Given the description of an element on the screen output the (x, y) to click on. 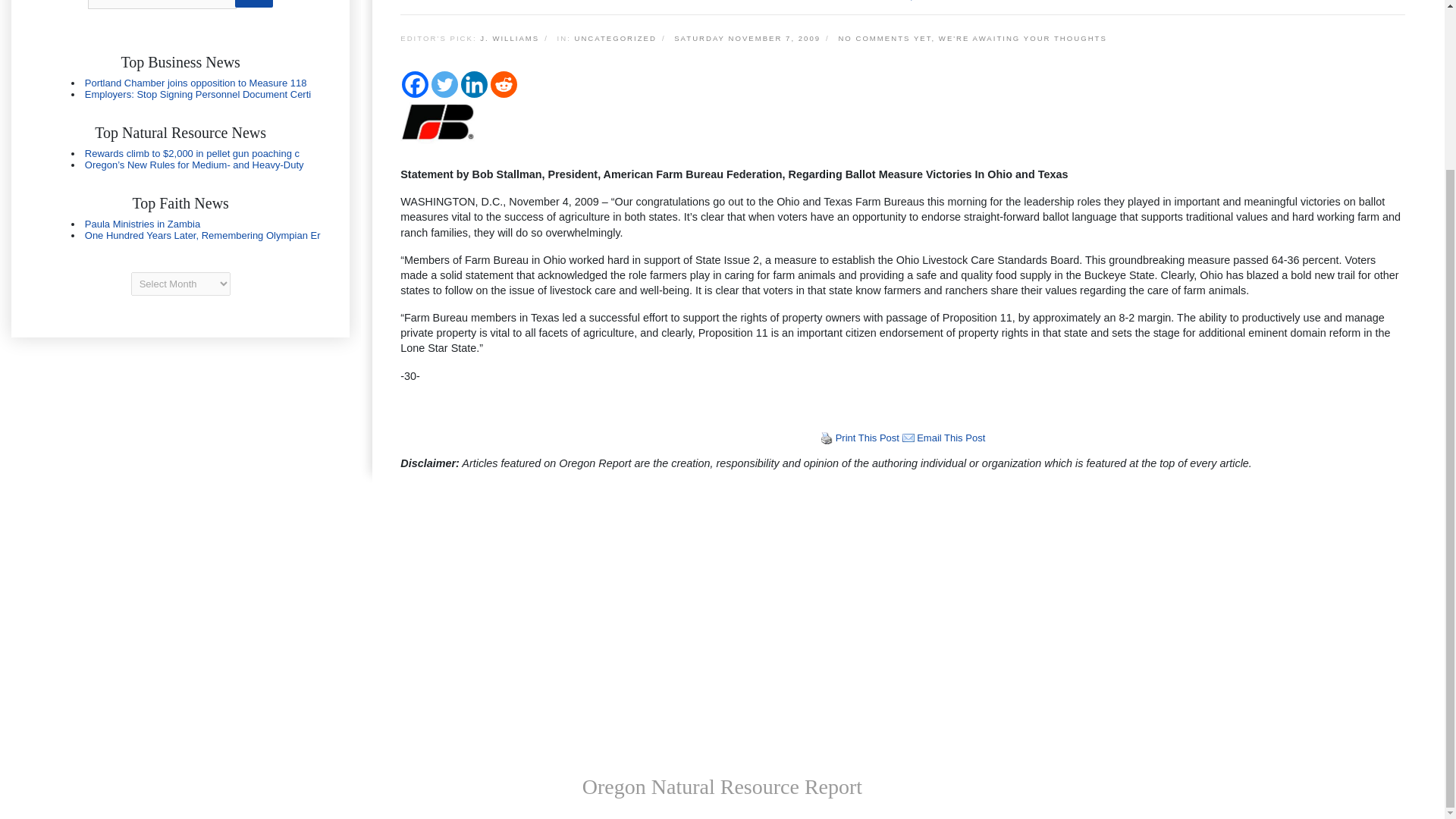
UNCATEGORIZED (614, 39)
One Hundred Years Later, Remembering Olympian Eric Liddell (202, 235)
farm-bureua-usa (438, 121)
NO COMMENTS YET, WE'RE AWAITING YOUR THOUGHTS (973, 39)
J. WILLIAMS (509, 39)
Email This Post (908, 437)
Paula Ministries in Zambia (142, 224)
Oregon (180, 229)
Print This Post (826, 437)
Linkedin (474, 84)
